Given the description of an element on the screen output the (x, y) to click on. 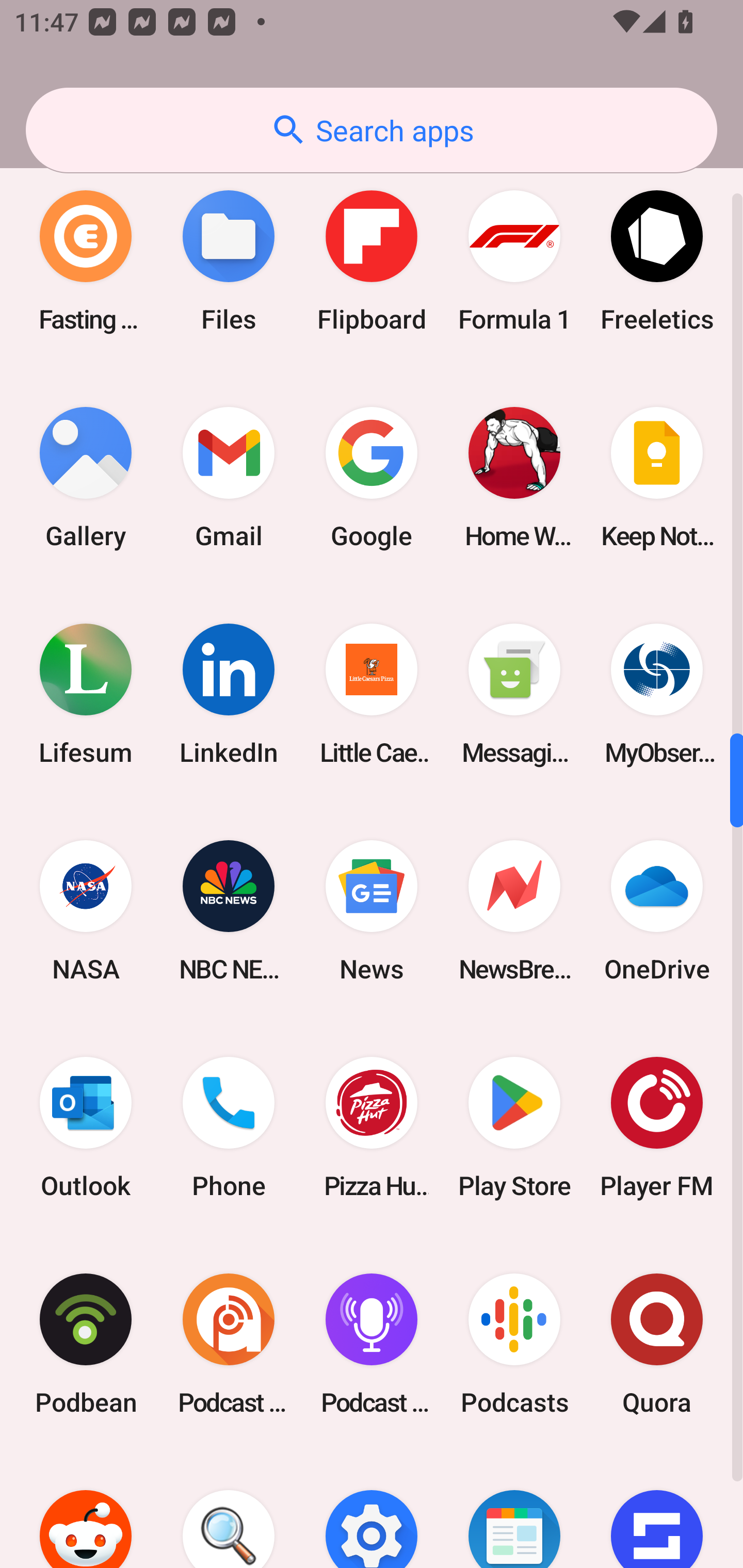
  Search apps (371, 130)
Fasting Coach (85, 261)
Files (228, 261)
Flipboard (371, 261)
Formula 1 (514, 261)
Freeletics (656, 261)
Gallery (85, 478)
Gmail (228, 478)
Google (371, 478)
Home Workout (514, 478)
Keep Notes (656, 478)
Lifesum (85, 694)
LinkedIn (228, 694)
Little Caesars Pizza (371, 694)
Messaging (514, 694)
MyObservatory (656, 694)
NASA (85, 910)
NBC NEWS (228, 910)
News (371, 910)
NewsBreak (514, 910)
OneDrive (656, 910)
Outlook (85, 1127)
Phone (228, 1127)
Pizza Hut HK & Macau (371, 1127)
Play Store (514, 1127)
Player FM (656, 1127)
Podbean (85, 1343)
Podcast Addict (228, 1343)
Podcast Player (371, 1343)
Podcasts (514, 1343)
Quora (656, 1343)
Reddit (85, 1509)
Search (228, 1509)
Settings (371, 1509)
SmartNews (514, 1509)
Sofascore (656, 1509)
